Given the description of an element on the screen output the (x, y) to click on. 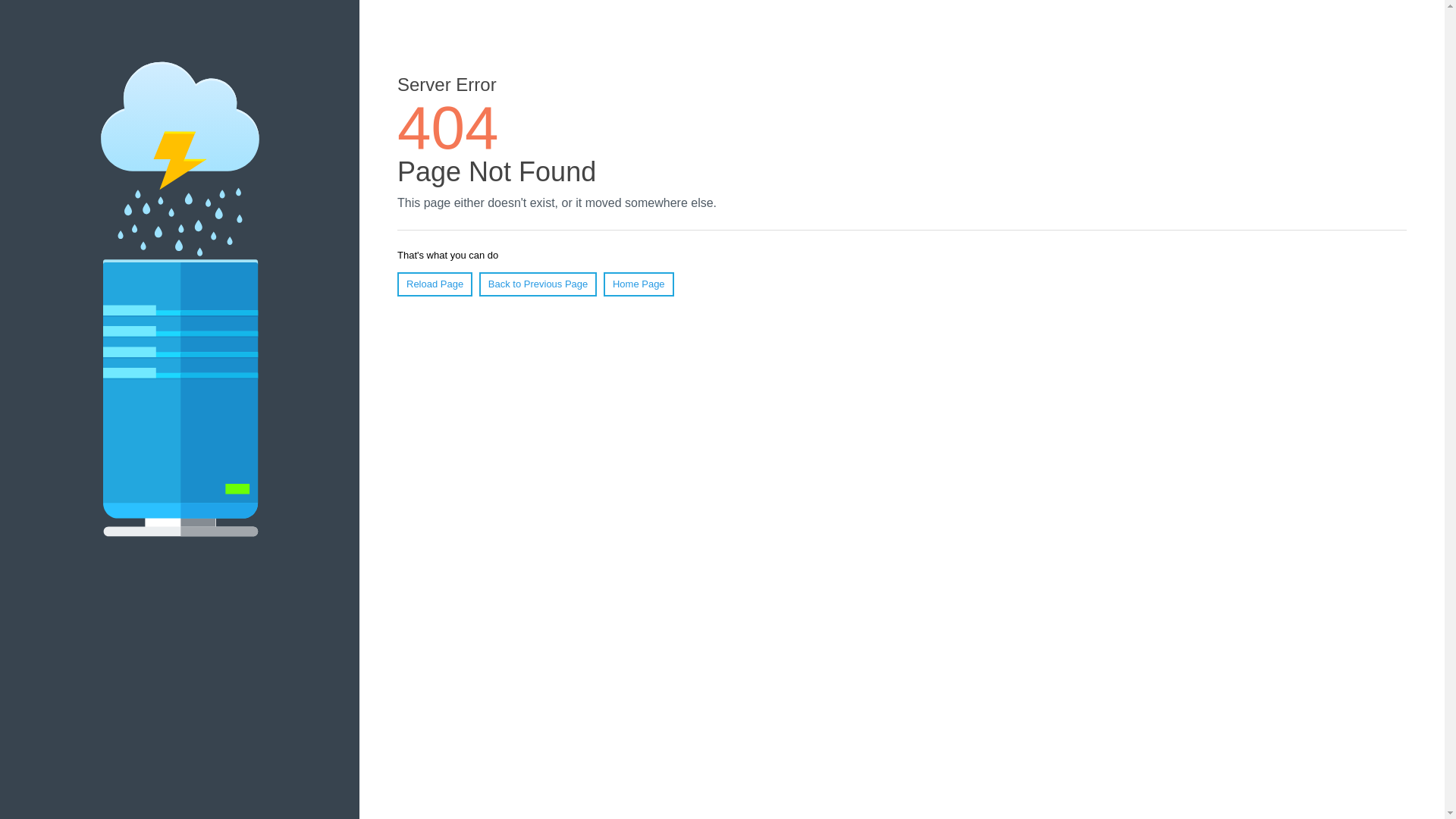
Home Page Element type: text (638, 284)
Reload Page Element type: text (434, 284)
Back to Previous Page Element type: text (538, 284)
